Given the description of an element on the screen output the (x, y) to click on. 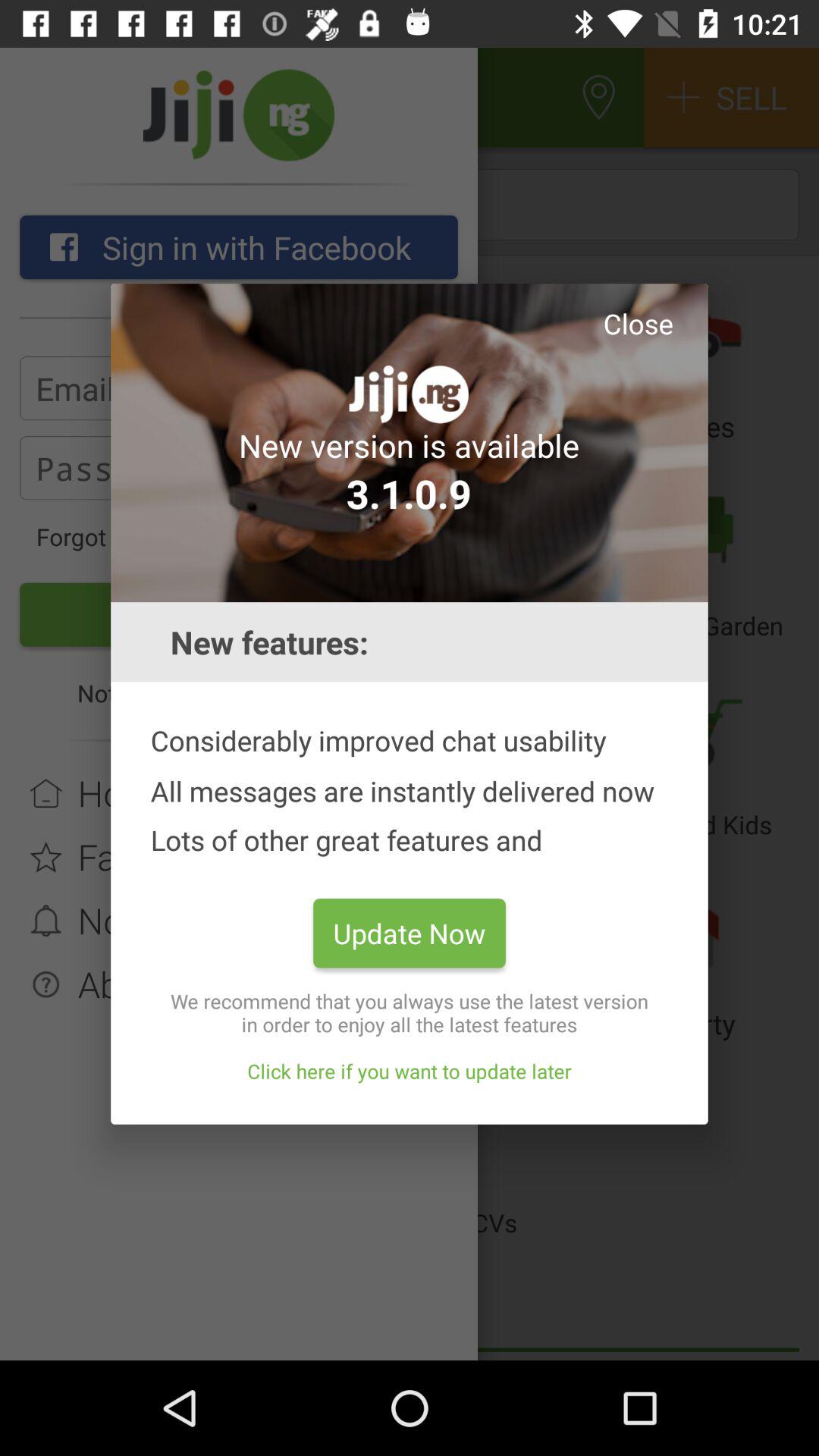
turn off the item below the we recommend that icon (409, 1070)
